Given the description of an element on the screen output the (x, y) to click on. 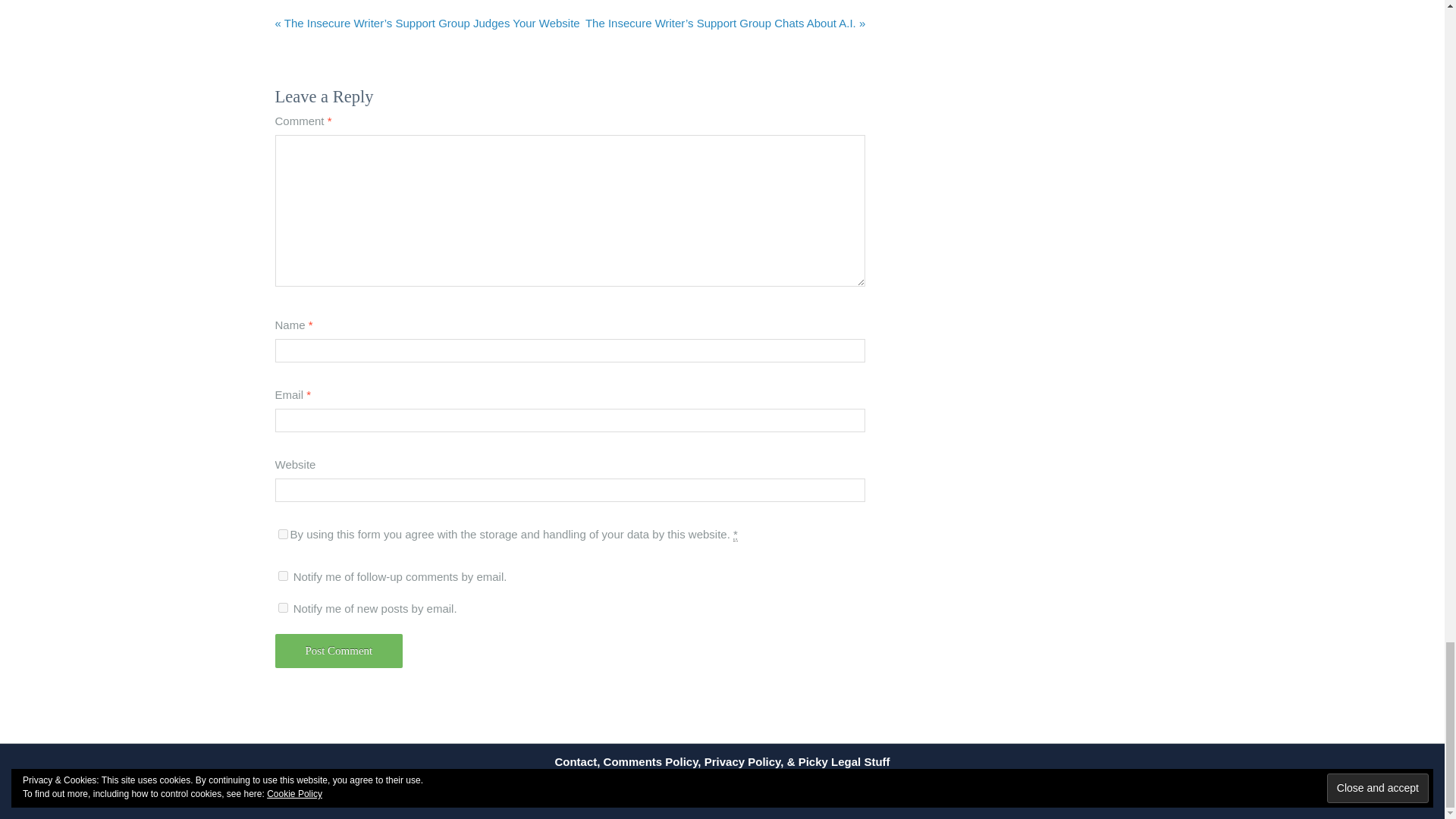
1 (282, 534)
Post Comment (339, 650)
You need to accept this checkbox (735, 534)
subscribe (282, 607)
subscribe (282, 575)
